Given the description of an element on the screen output the (x, y) to click on. 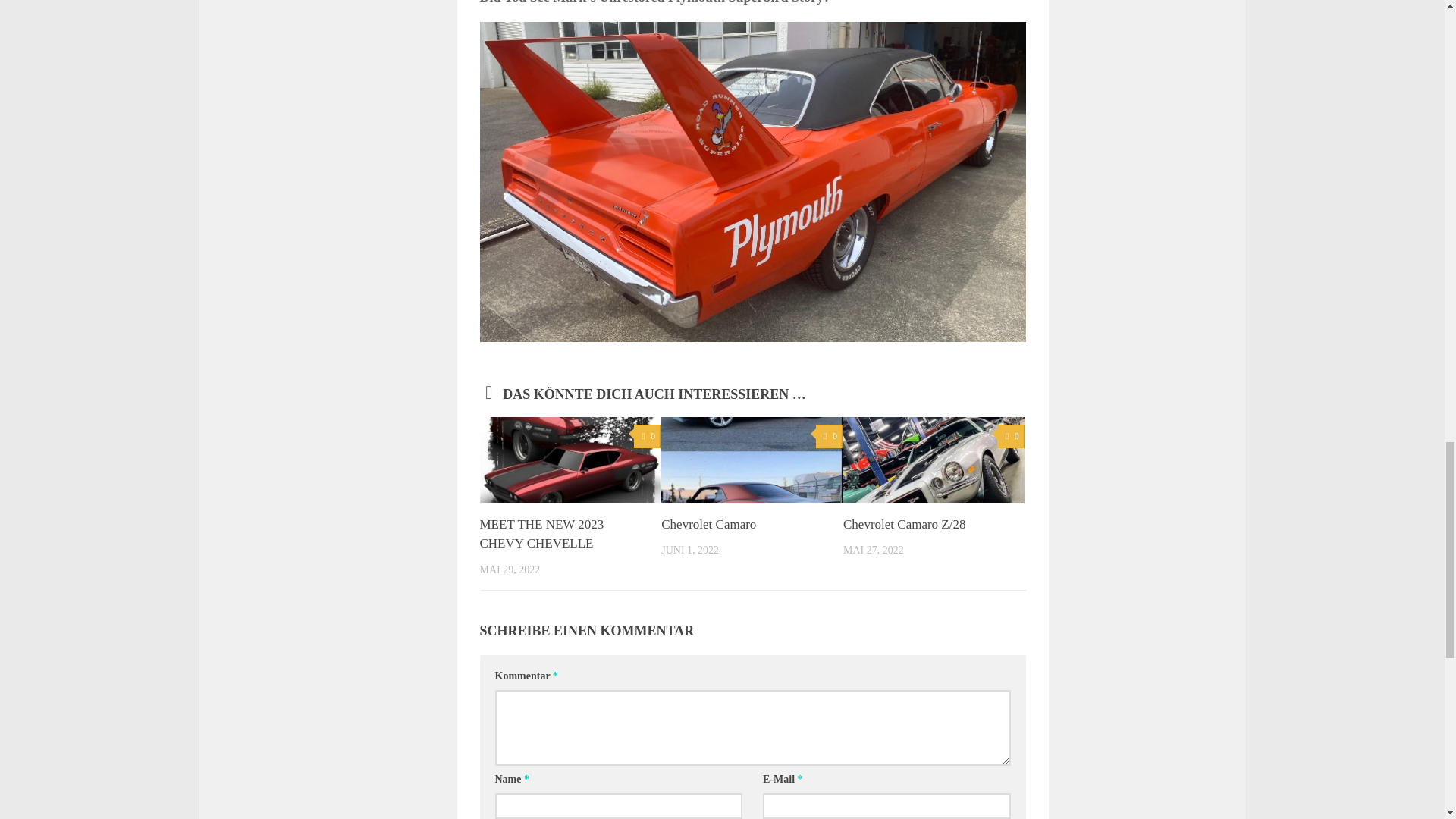
0 (1010, 436)
Chevrolet Camaro (708, 523)
0 (647, 436)
MEET THE NEW 2023 CHEVY CHEVELLE (541, 533)
0 (829, 436)
